Given the description of an element on the screen output the (x, y) to click on. 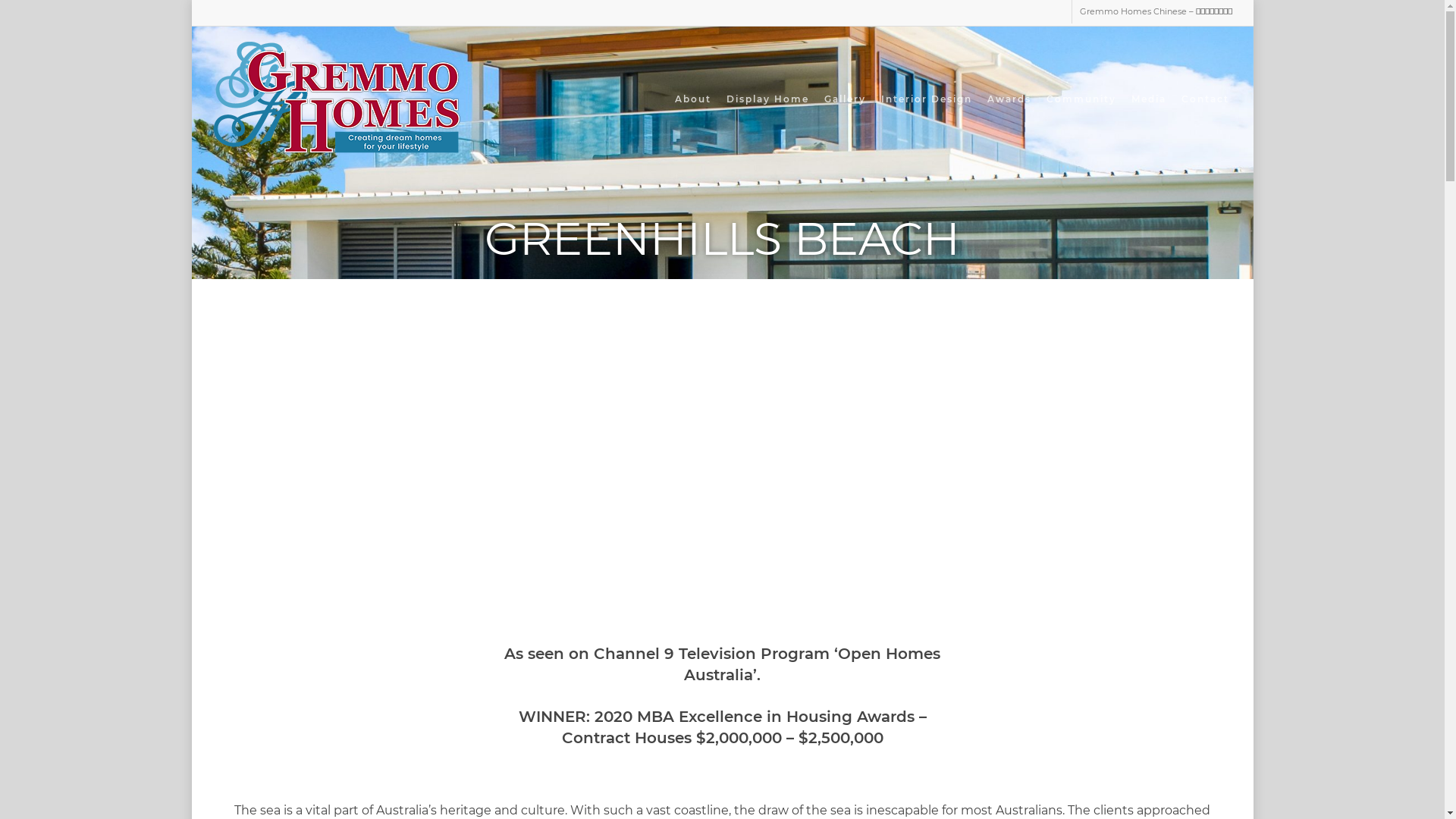
About Element type: text (692, 98)
Interior Design Element type: text (926, 98)
Greenhills Beach Gremmo Homes Open Homes Australia Element type: hover (722, 463)
Community Element type: text (1081, 98)
Display Home Element type: text (767, 98)
instagram Element type: text (748, 709)
Media Element type: text (1148, 98)
Contact Element type: text (1205, 98)
Gallery Element type: text (844, 98)
facebook Element type: text (695, 709)
Awards Element type: text (1009, 98)
